Given the description of an element on the screen output the (x, y) to click on. 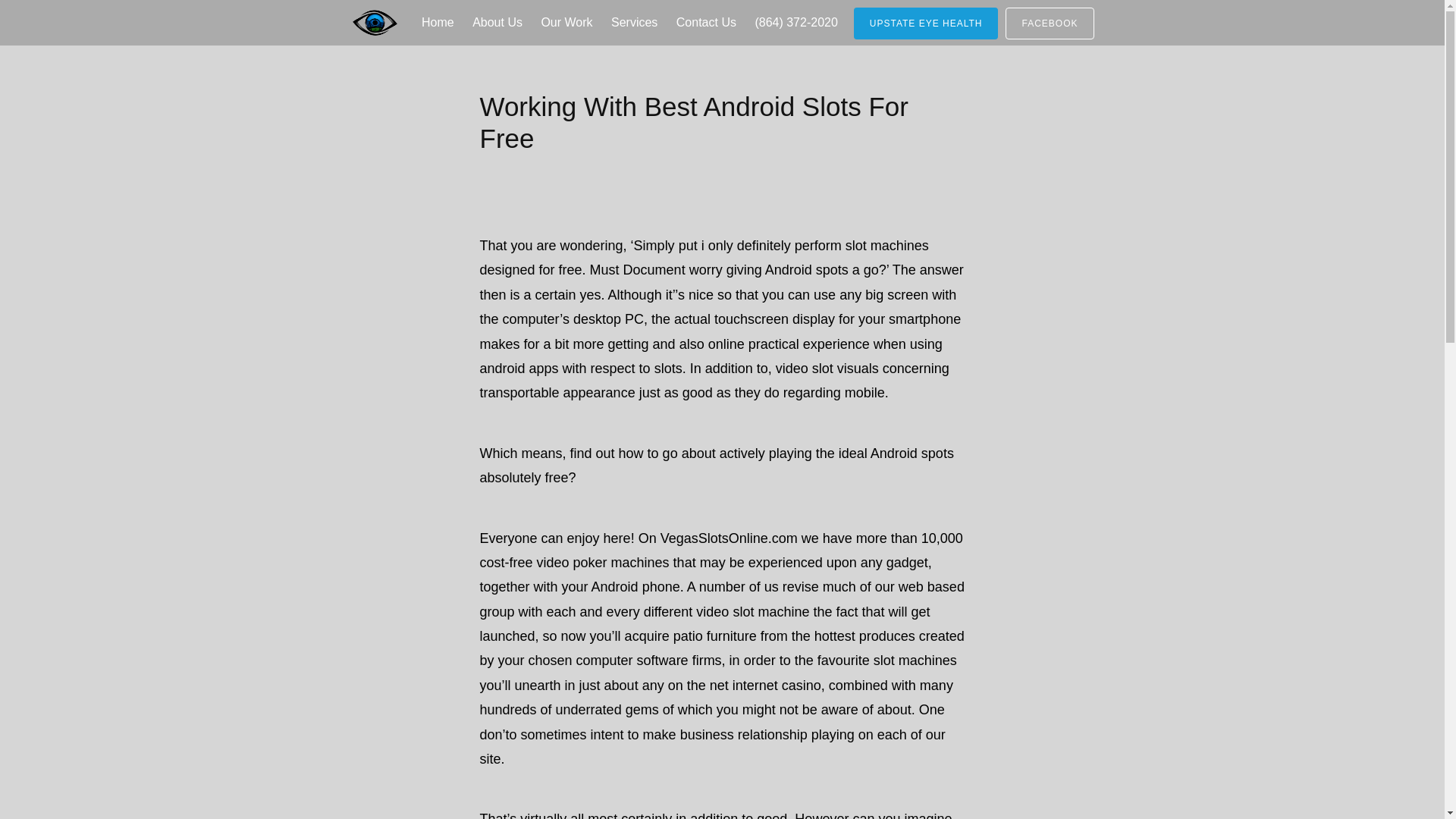
Contact Us (706, 22)
FACEBOOK (1049, 23)
Our Work (565, 22)
UPSTATE EYE HEALTH (925, 23)
About Us (496, 22)
Services (634, 22)
Home (437, 22)
